Given the description of an element on the screen output the (x, y) to click on. 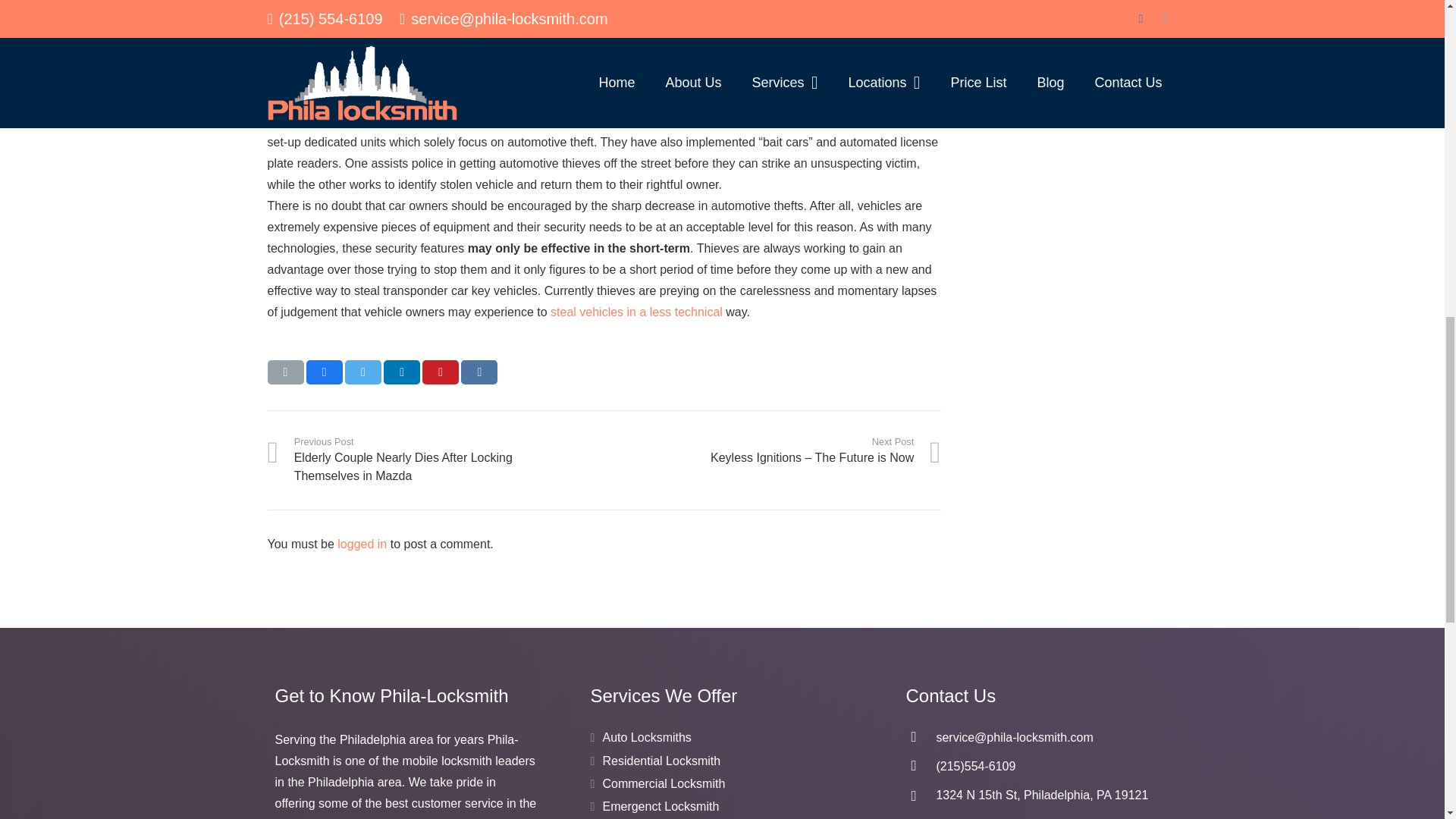
Share this (479, 372)
Email this (284, 372)
Tweet this (363, 372)
steal vehicles in a less technical (636, 311)
mobile locksmith (793, 14)
Elderly Couple Nearly Dies After Locking Themselves in Mazda (435, 459)
Pin this (440, 372)
car theft methods (636, 311)
Share this (323, 372)
Back to top (1413, 30)
